Given the description of an element on the screen output the (x, y) to click on. 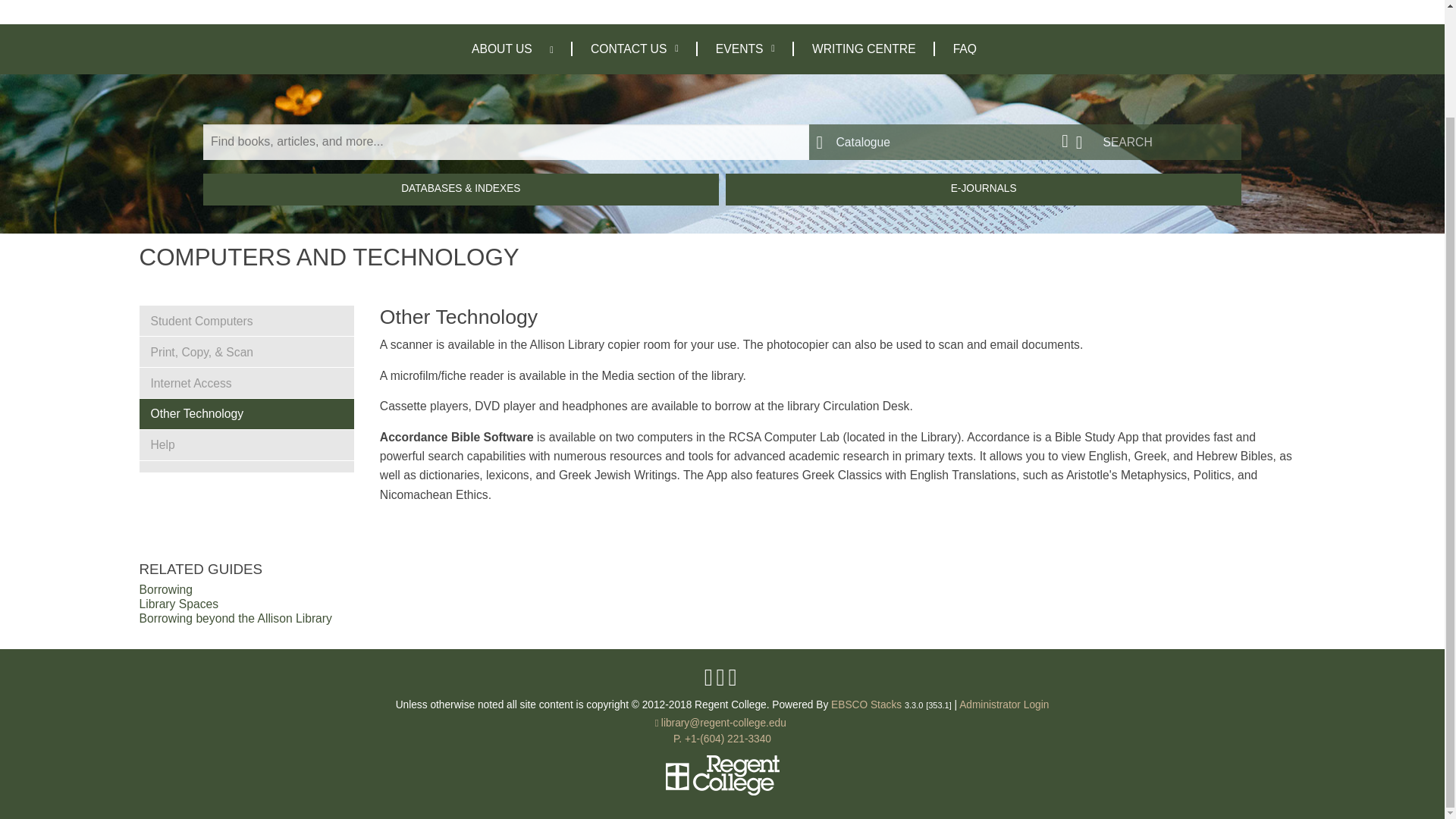
ABOUT US (501, 49)
show submenu (560, 48)
CONTACT US (633, 49)
EVENTS (744, 49)
Home (203, 3)
Search (1154, 141)
